Given the description of an element on the screen output the (x, y) to click on. 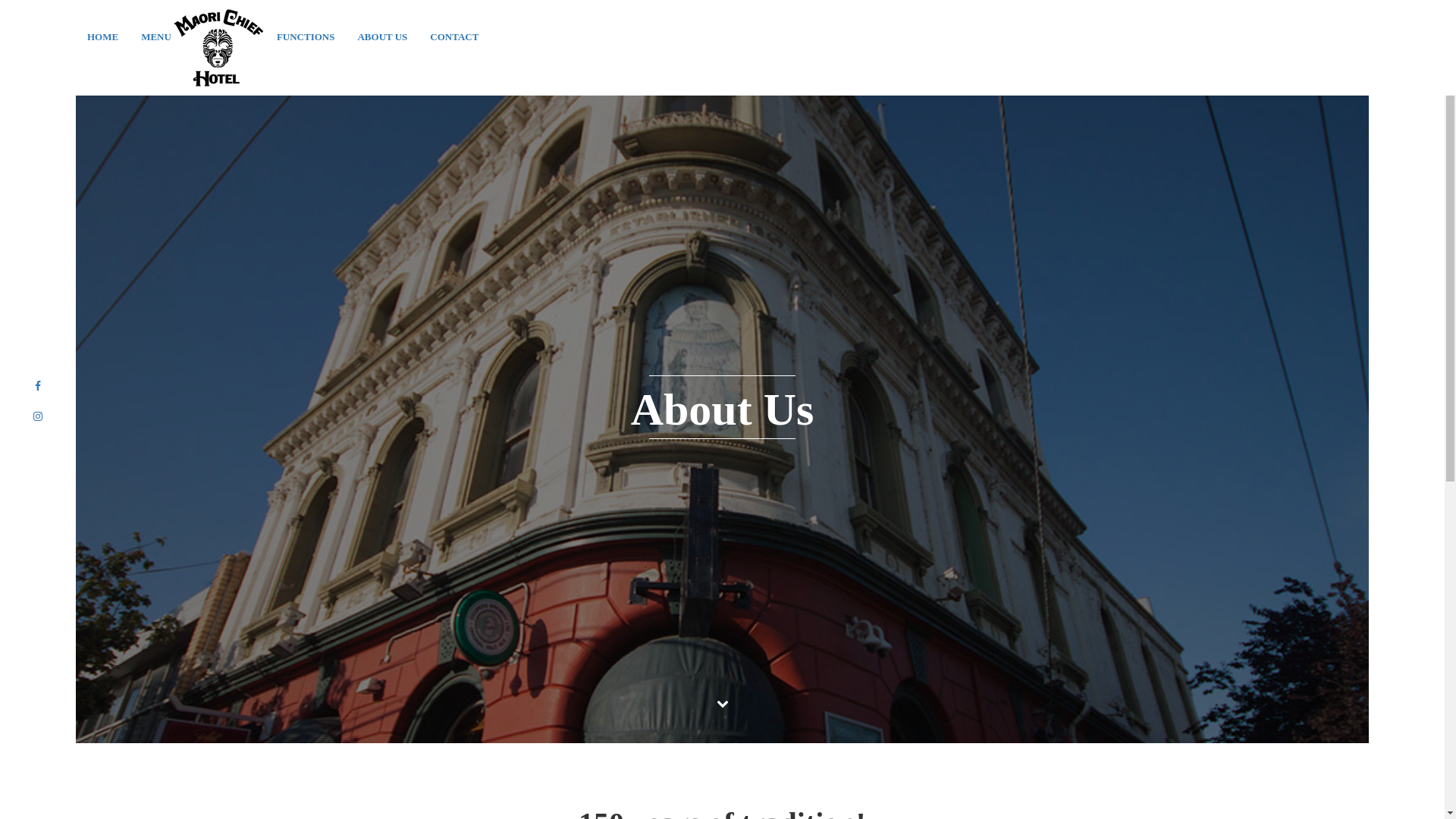
ABOUT US Element type: text (382, 36)
HOME Element type: text (102, 36)
FUNCTIONS Element type: text (305, 36)
CONTACT Element type: text (453, 36)
Maori Chief Hotel - 150 Years of Tradition Element type: hover (218, 46)
MENU Element type: text (156, 36)
